Given the description of an element on the screen output the (x, y) to click on. 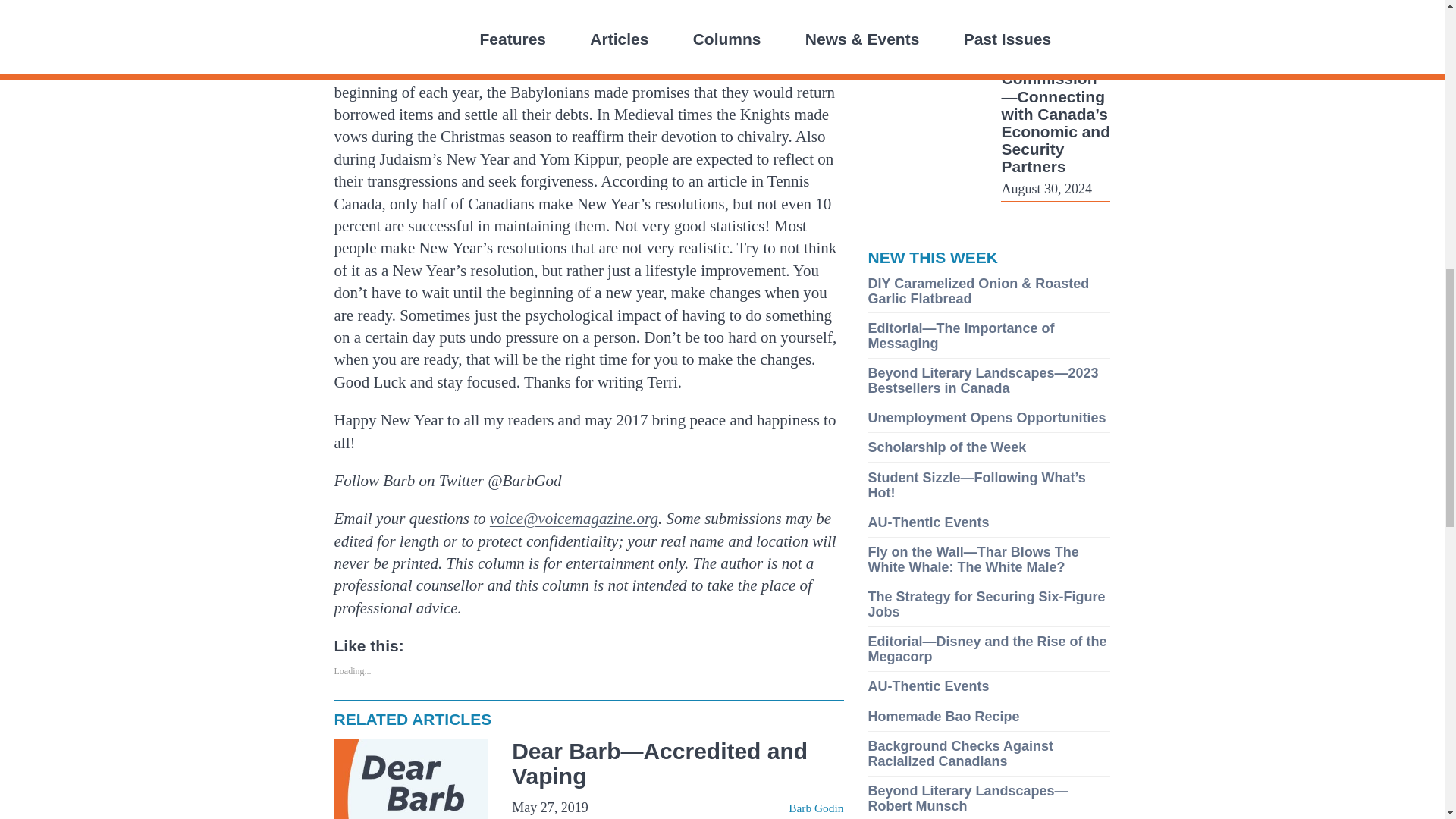
Unemployment Opens Opportunities (986, 417)
Posts by Barb Godin (816, 807)
Barb Godin (816, 807)
